Given the description of an element on the screen output the (x, y) to click on. 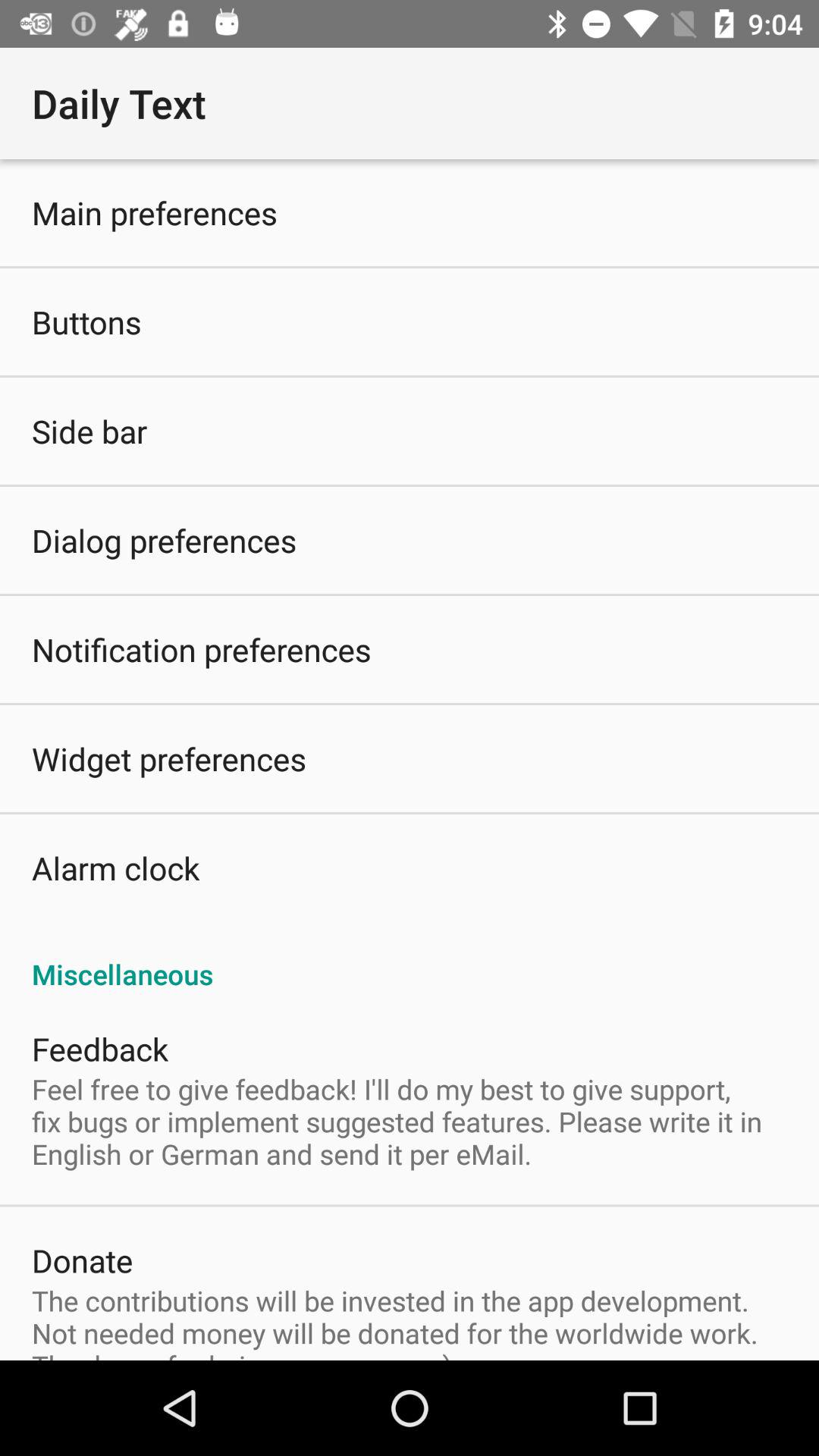
select the item below side bar icon (163, 539)
